Given the description of an element on the screen output the (x, y) to click on. 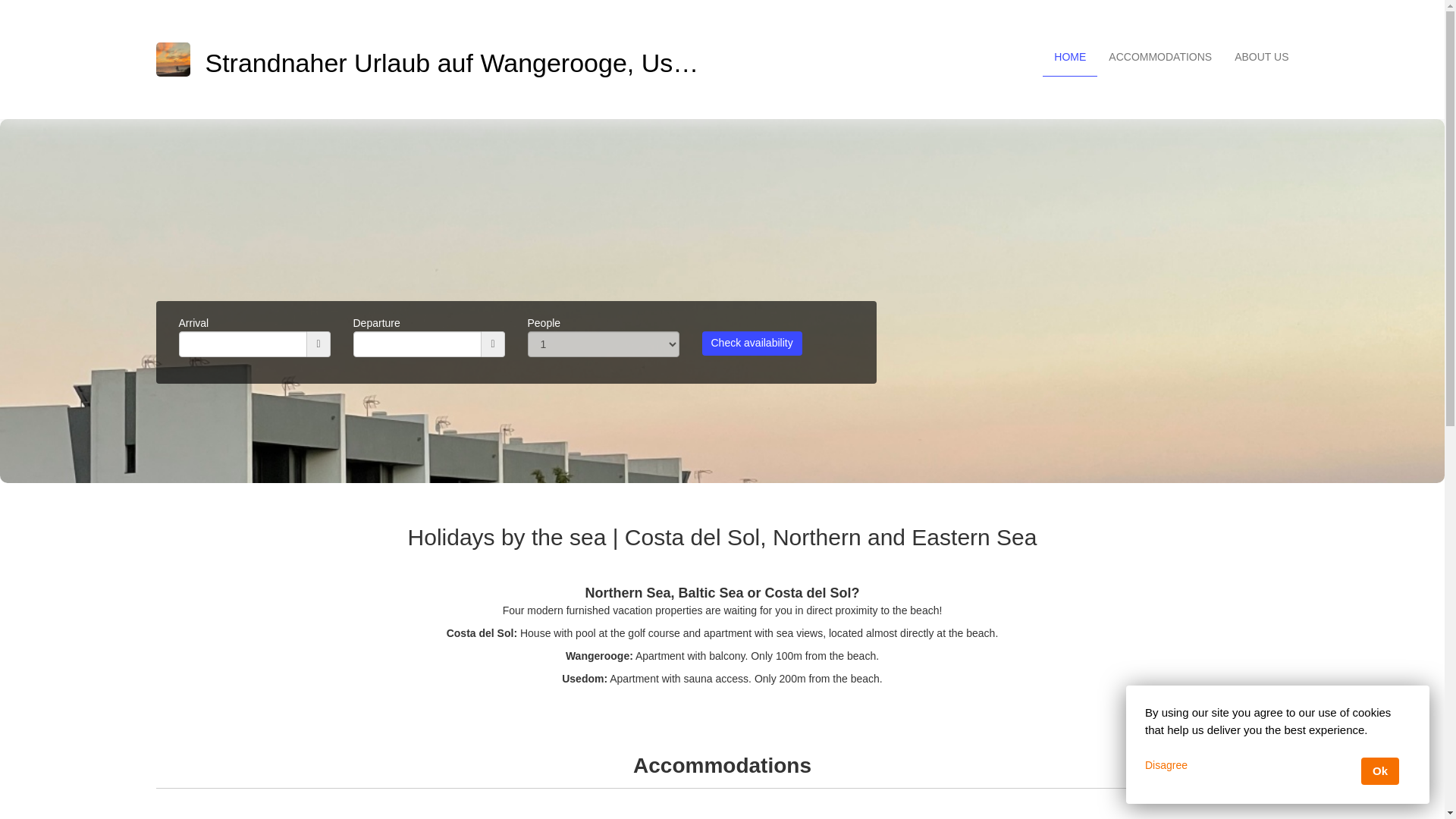
I Accept (1380, 770)
Disagree (1166, 765)
HOME (1069, 56)
Close (1277, 765)
Check availability (751, 343)
ACCOMMODATIONS (1160, 56)
ABOUT US (1261, 56)
